Given the description of an element on the screen output the (x, y) to click on. 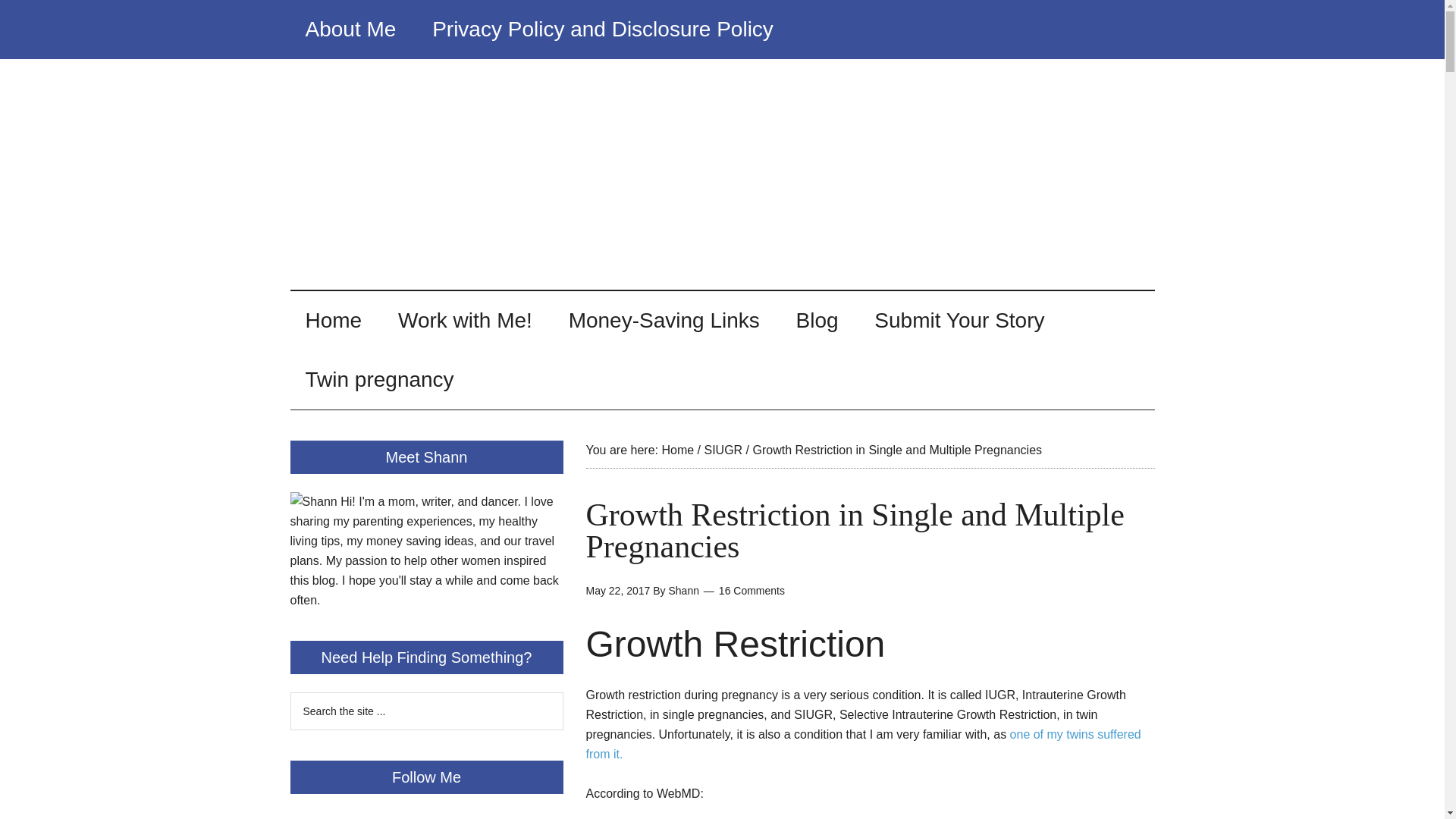
Home (677, 449)
Money-Saving Links (663, 320)
Home (333, 320)
Privacy Policy and Disclosure Policy (602, 29)
16 Comments (751, 590)
one of my twins suffered from it.  (862, 744)
Submit Your Story (959, 320)
Work with Me! (464, 320)
Shann (683, 590)
